Given the description of an element on the screen output the (x, y) to click on. 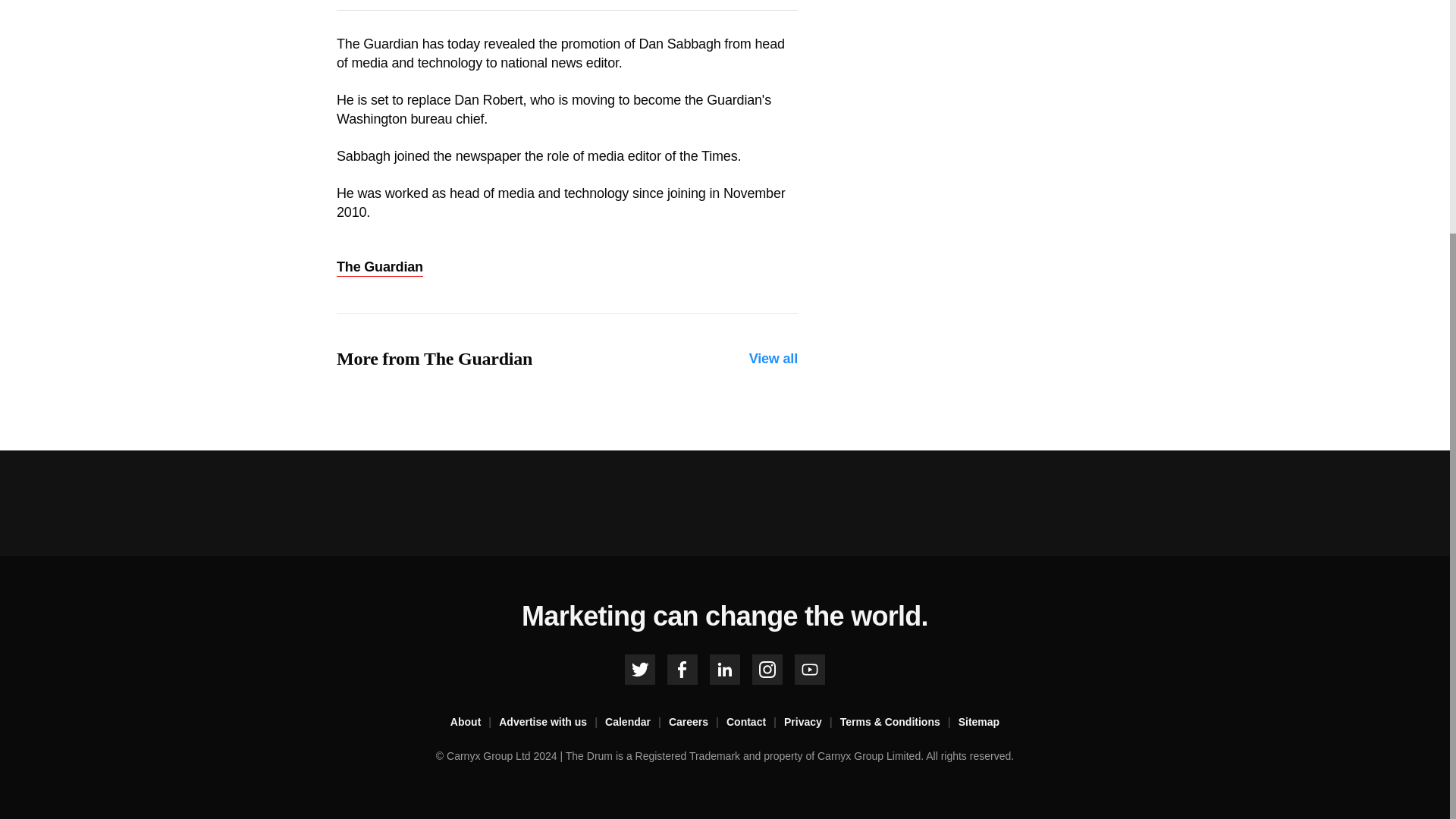
Privacy (812, 722)
Sitemap (978, 722)
Calendar (636, 722)
The Guardian (379, 267)
View all (773, 358)
About (474, 722)
Careers (697, 722)
Contact (755, 722)
Advertise with us (552, 722)
